Given the description of an element on the screen output the (x, y) to click on. 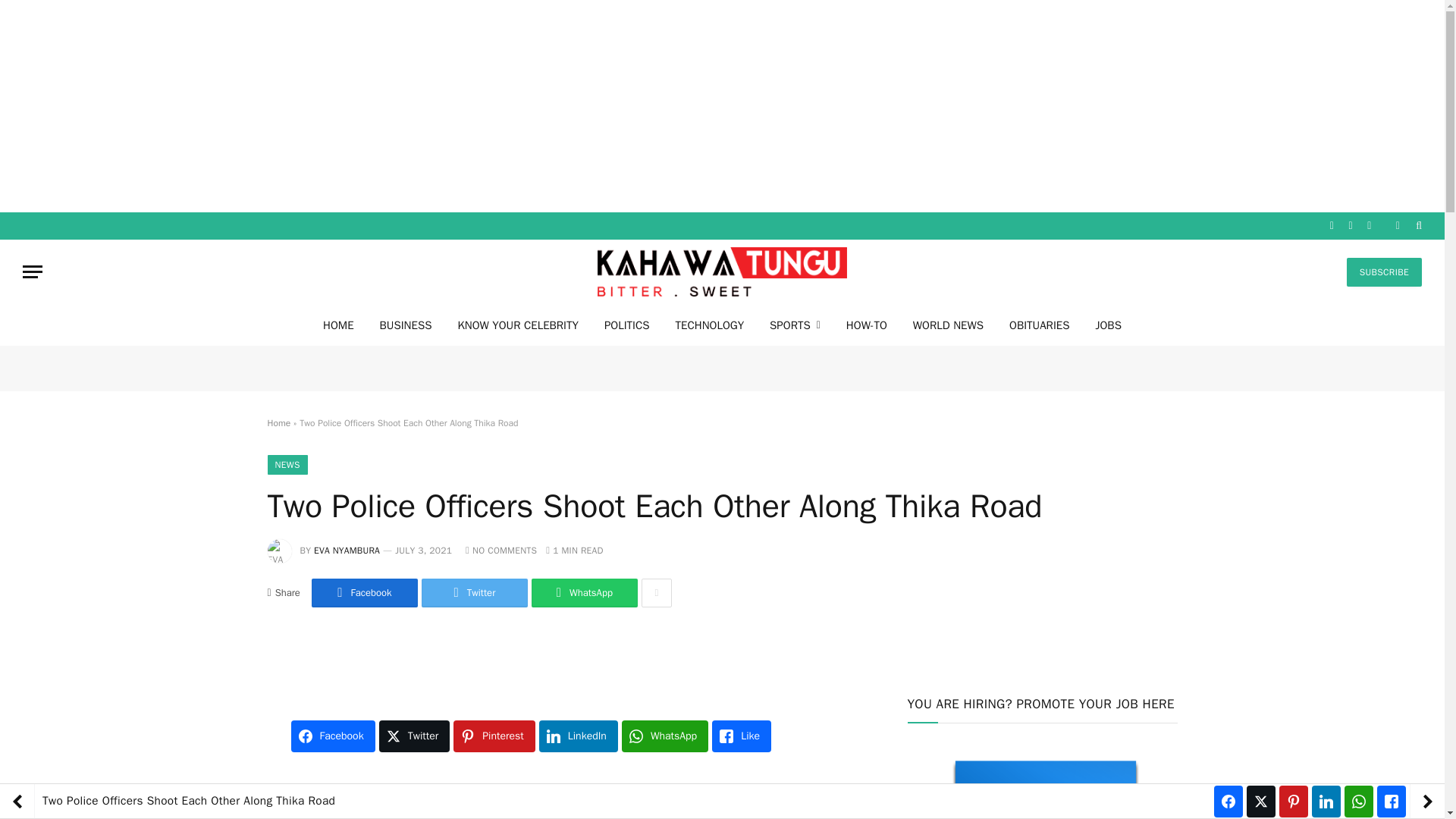
OBITUARIES (1038, 324)
BUSINESS (405, 324)
EVA NYAMBURA (347, 550)
JOBS (1107, 324)
HOW-TO (865, 324)
SUBSCRIBE (1384, 271)
WORLD NEWS (947, 324)
Home (277, 422)
Share on WhatsApp (584, 592)
TECHNOLOGY (709, 324)
WhatsApp (584, 592)
Switch to Dark Design - easier on eyes. (1397, 225)
NEWS (286, 465)
Posts by Eva Nyambura (347, 550)
